Given the description of an element on the screen output the (x, y) to click on. 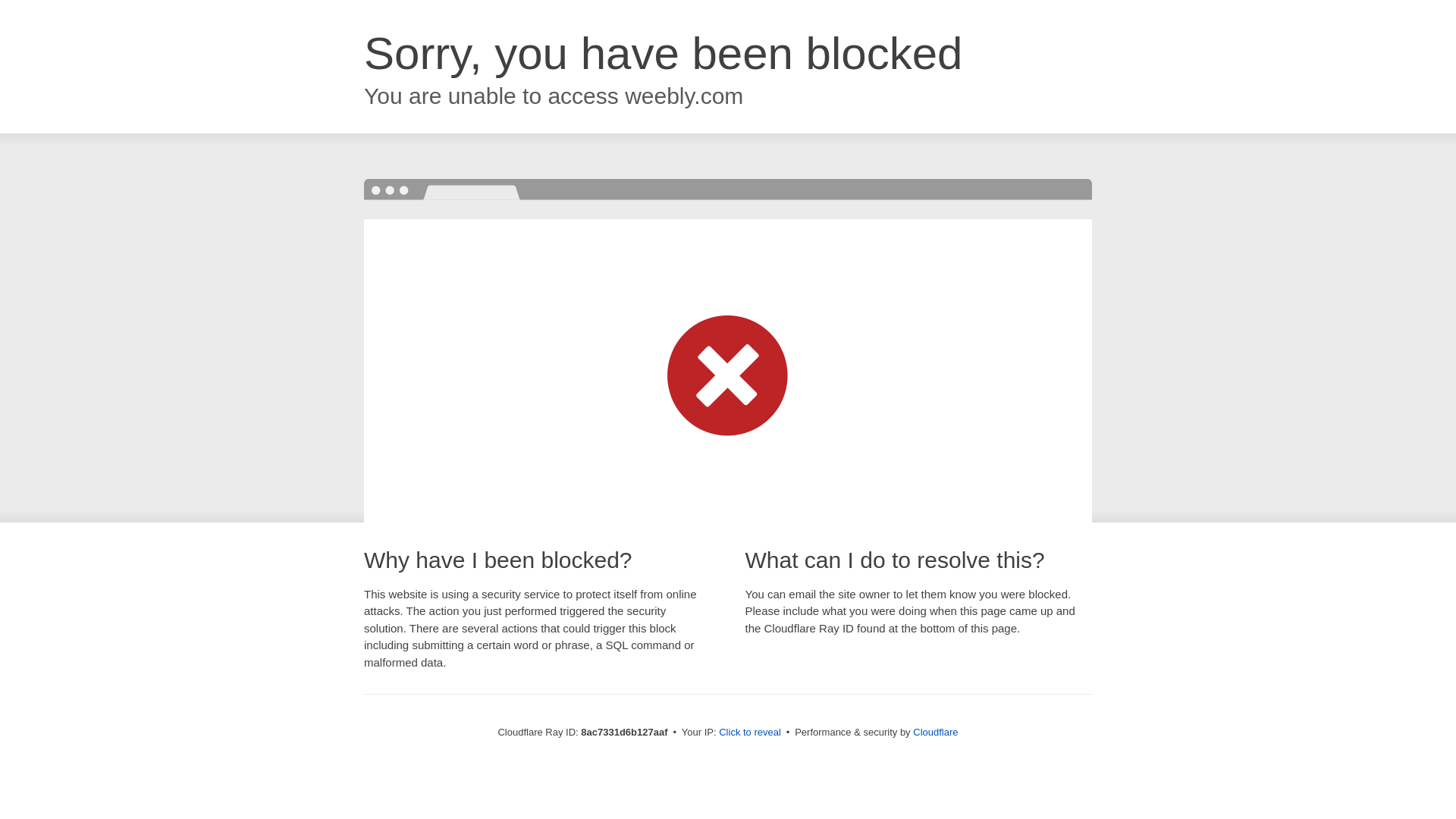
Cloudflare (935, 731)
Click to reveal (749, 732)
